Given the description of an element on the screen output the (x, y) to click on. 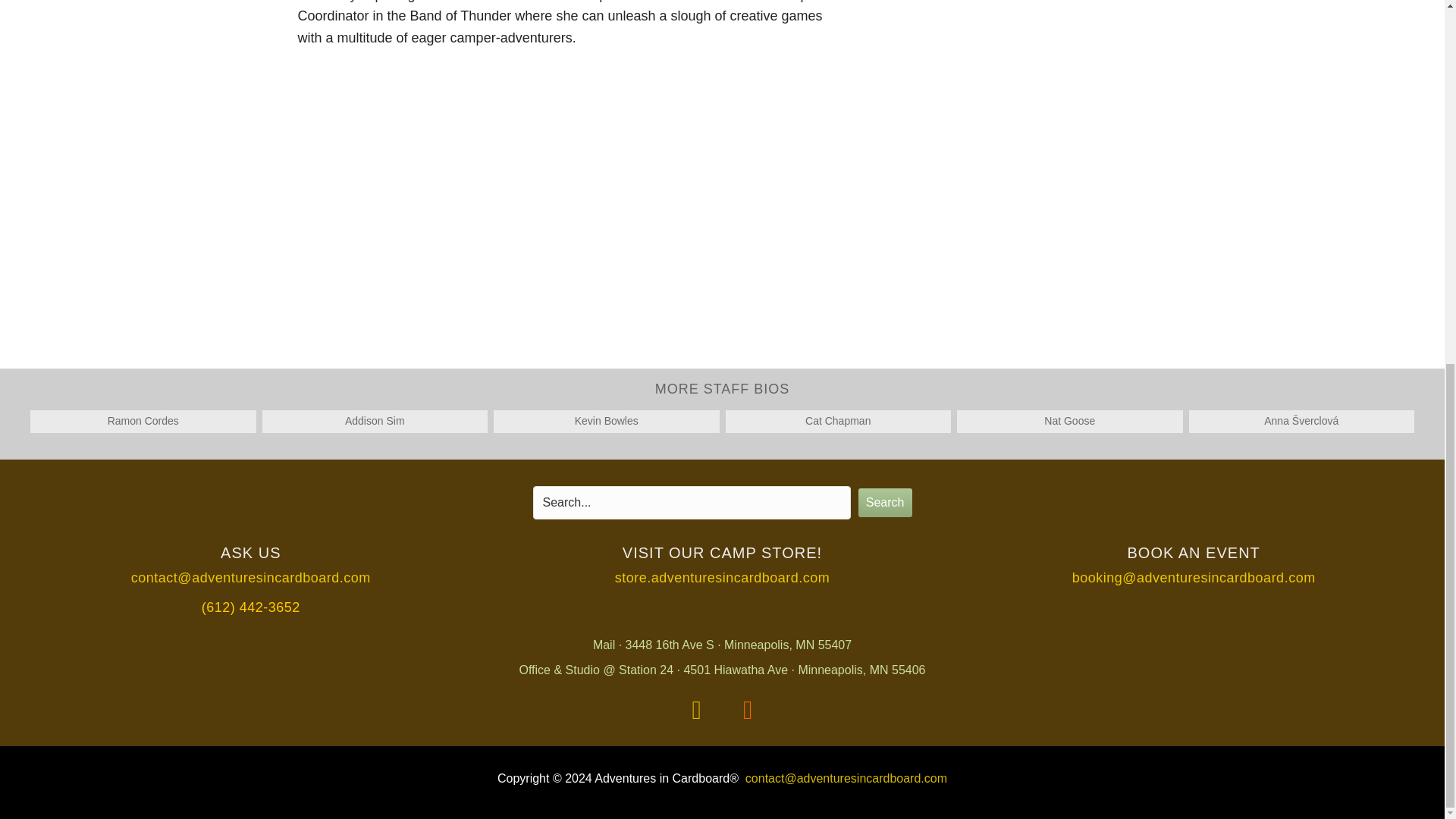
Cat Chapman (837, 420)
Kevin Bowles (607, 420)
Ramon Cordes (143, 420)
Nat Goose (1068, 420)
Ramon Cordes (143, 420)
store.adventuresincardboard.com (721, 577)
Kevin Bowles (607, 420)
Addison Sim (374, 420)
Search (885, 502)
Addison Sim (374, 420)
